Given the description of an element on the screen output the (x, y) to click on. 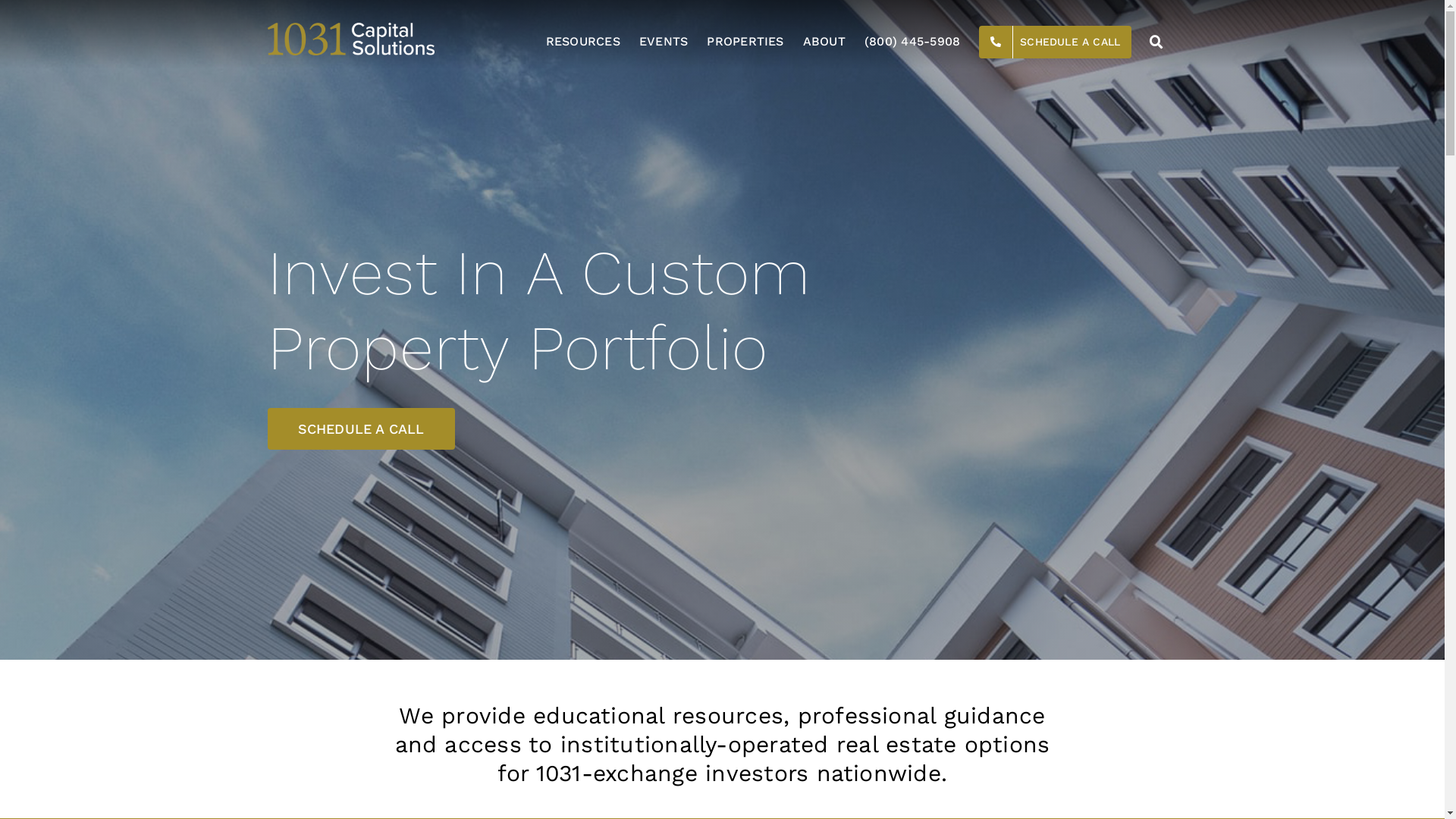
EVENTS Element type: text (663, 41)
SCHEDULE A CALL Element type: text (1055, 41)
ABOUT Element type: text (824, 41)
RESOURCES Element type: text (583, 41)
PROPERTIES Element type: text (744, 41)
SCHEDULE A CALL Element type: text (360, 428)
(800) 445-5908 Element type: text (912, 41)
